Given the description of an element on the screen output the (x, y) to click on. 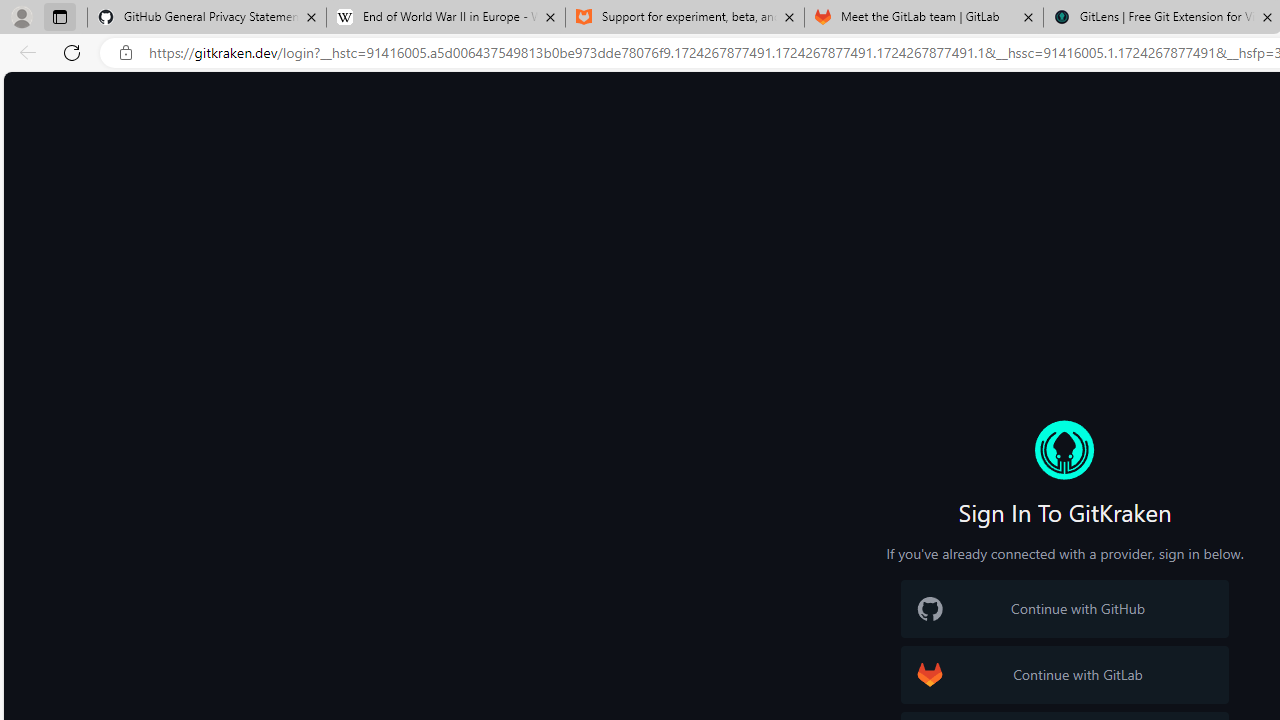
GitHub Logo Continue with GitHub (1064, 608)
End of World War II in Europe - Wikipedia (445, 17)
GitHub Logo (929, 609)
GitLab Logo (929, 674)
GitKraken (1064, 449)
GitHub General Privacy Statement - GitHub Docs (207, 17)
Meet the GitLab team | GitLab (924, 17)
GitLab Logo Continue with GitLab (1064, 674)
